Given the description of an element on the screen output the (x, y) to click on. 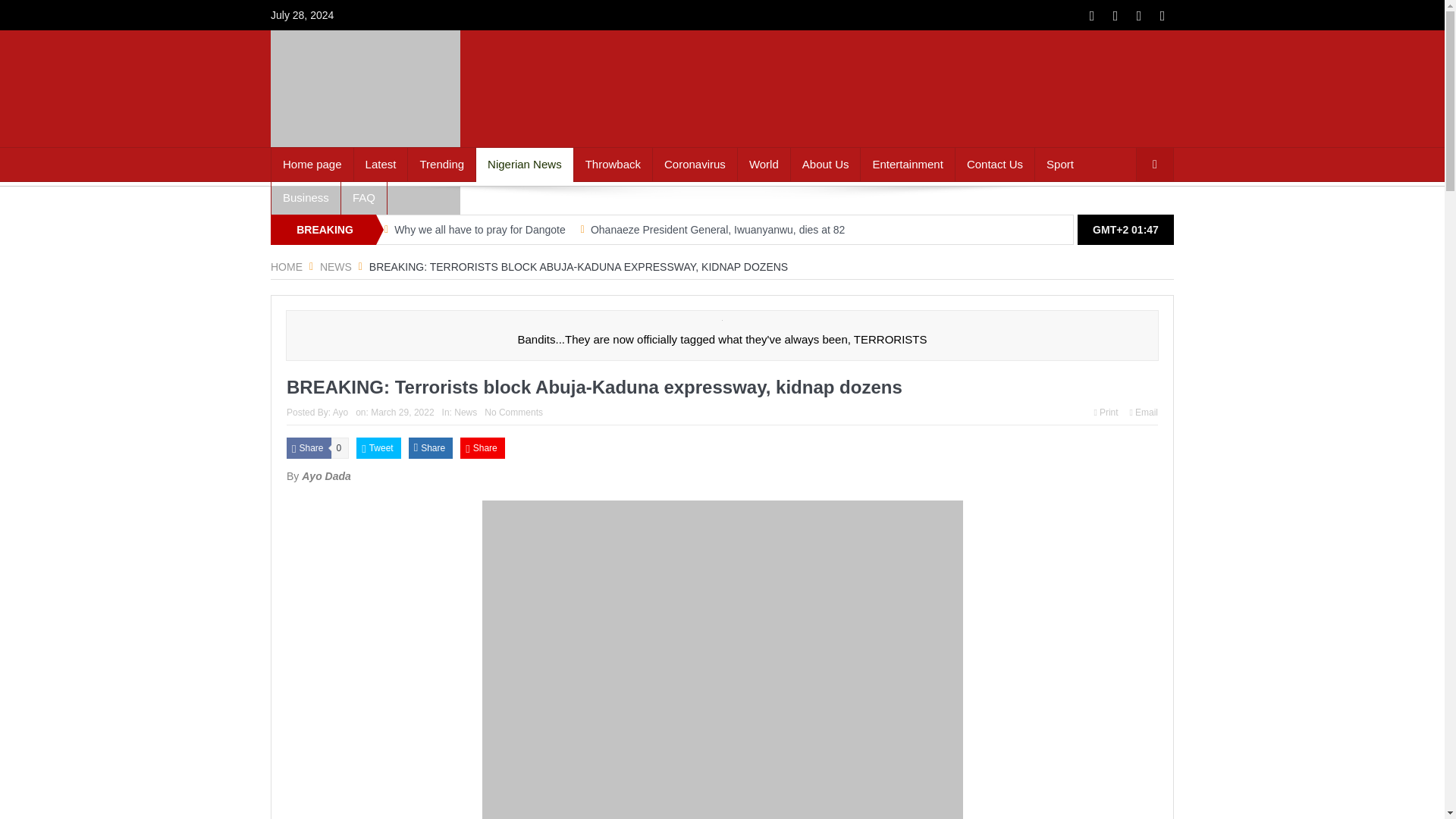
Entertainment (906, 164)
Ohanaeze President General, Iwuanyanwu, dies at 82 (717, 229)
News (336, 266)
Contact Us (994, 164)
Coronavirus (694, 164)
HOME (286, 266)
Nigerian News (524, 164)
Trending (441, 164)
About Us (825, 164)
World (764, 164)
Business (305, 197)
Home page (311, 164)
FAQ (363, 197)
Latest (380, 164)
Throwback (612, 164)
